Given the description of an element on the screen output the (x, y) to click on. 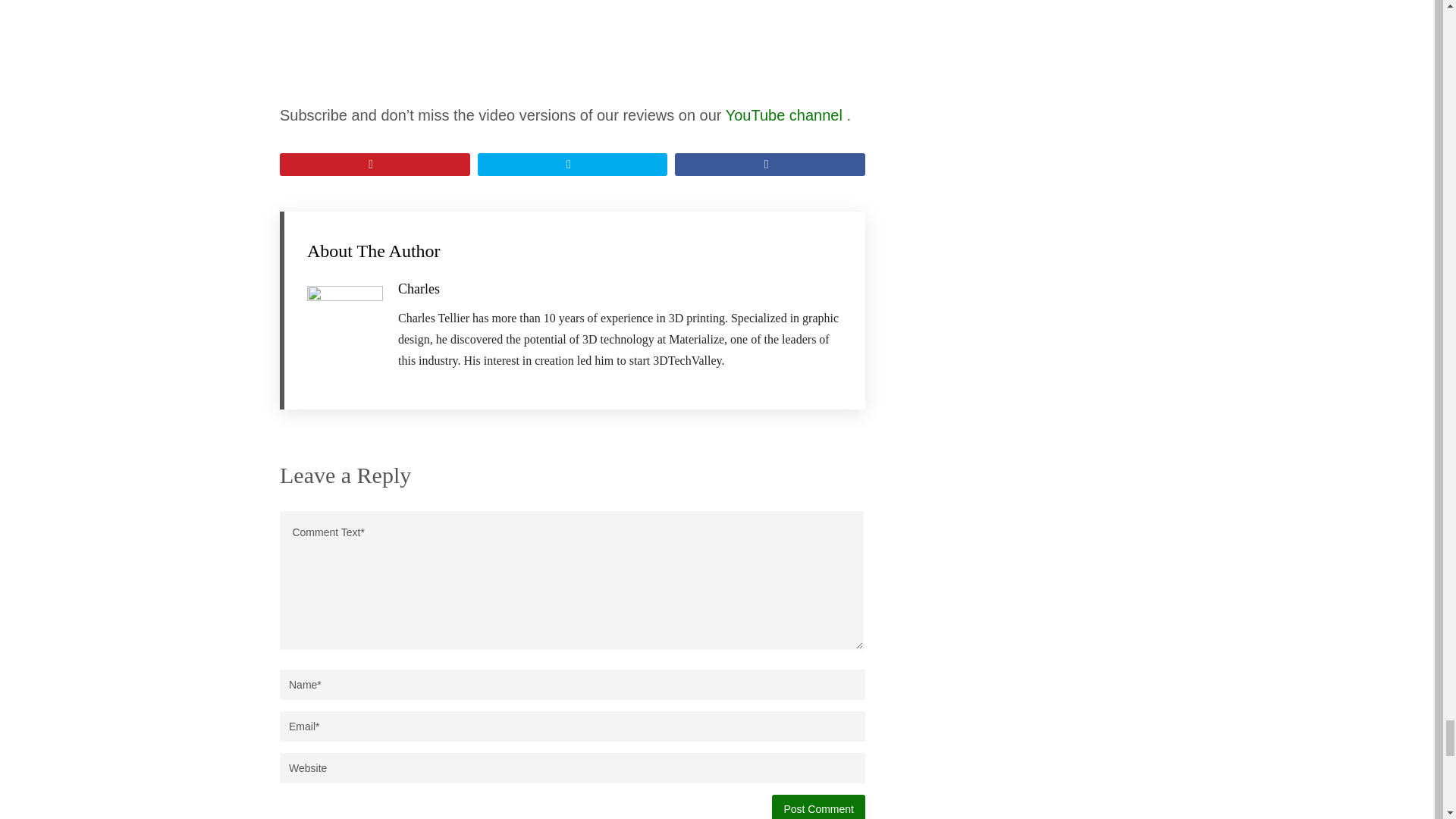
Post Comment (817, 806)
